Given the description of an element on the screen output the (x, y) to click on. 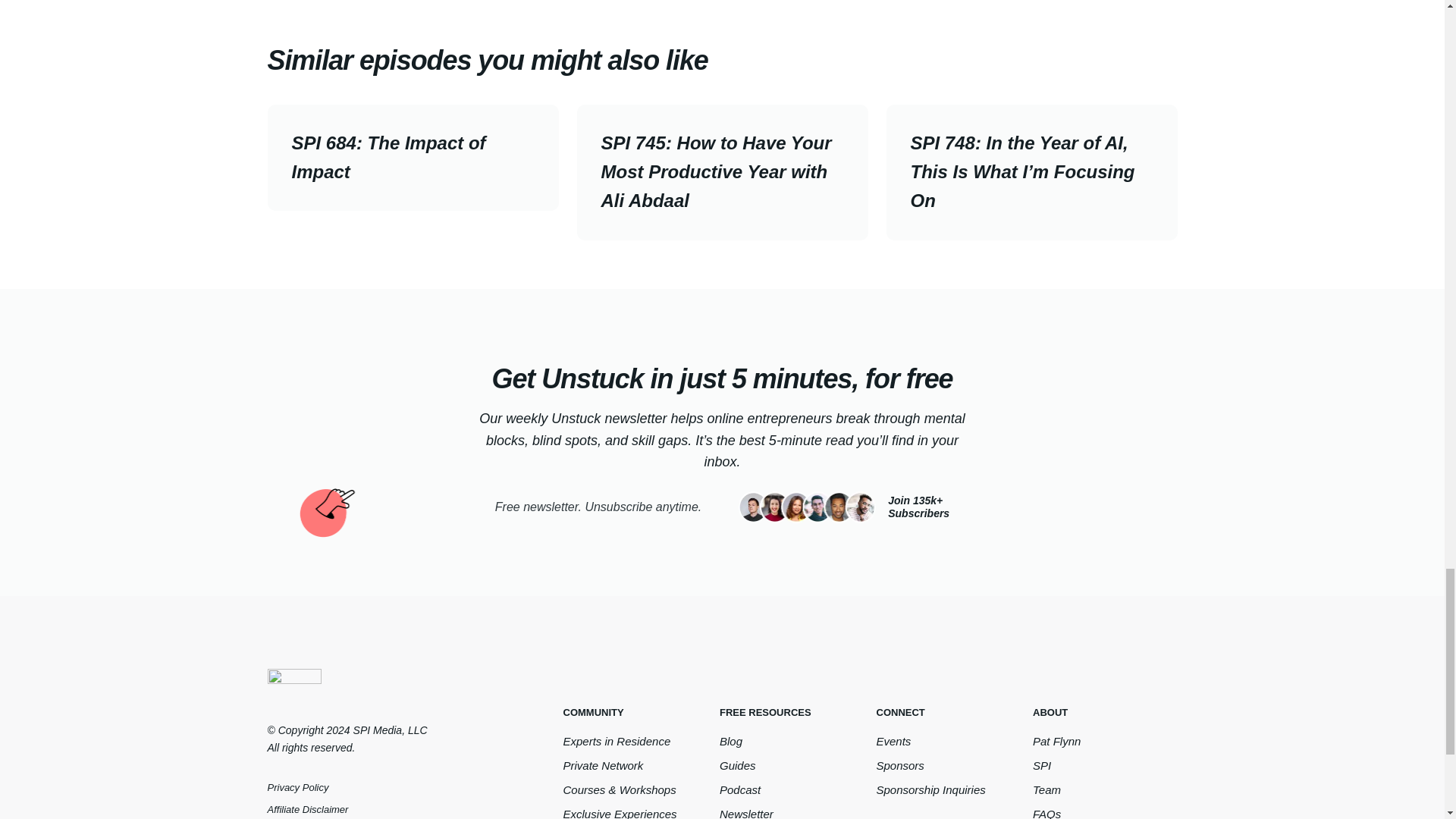
SPI 684: The Impact of Impact (411, 157)
